Given the description of an element on the screen output the (x, y) to click on. 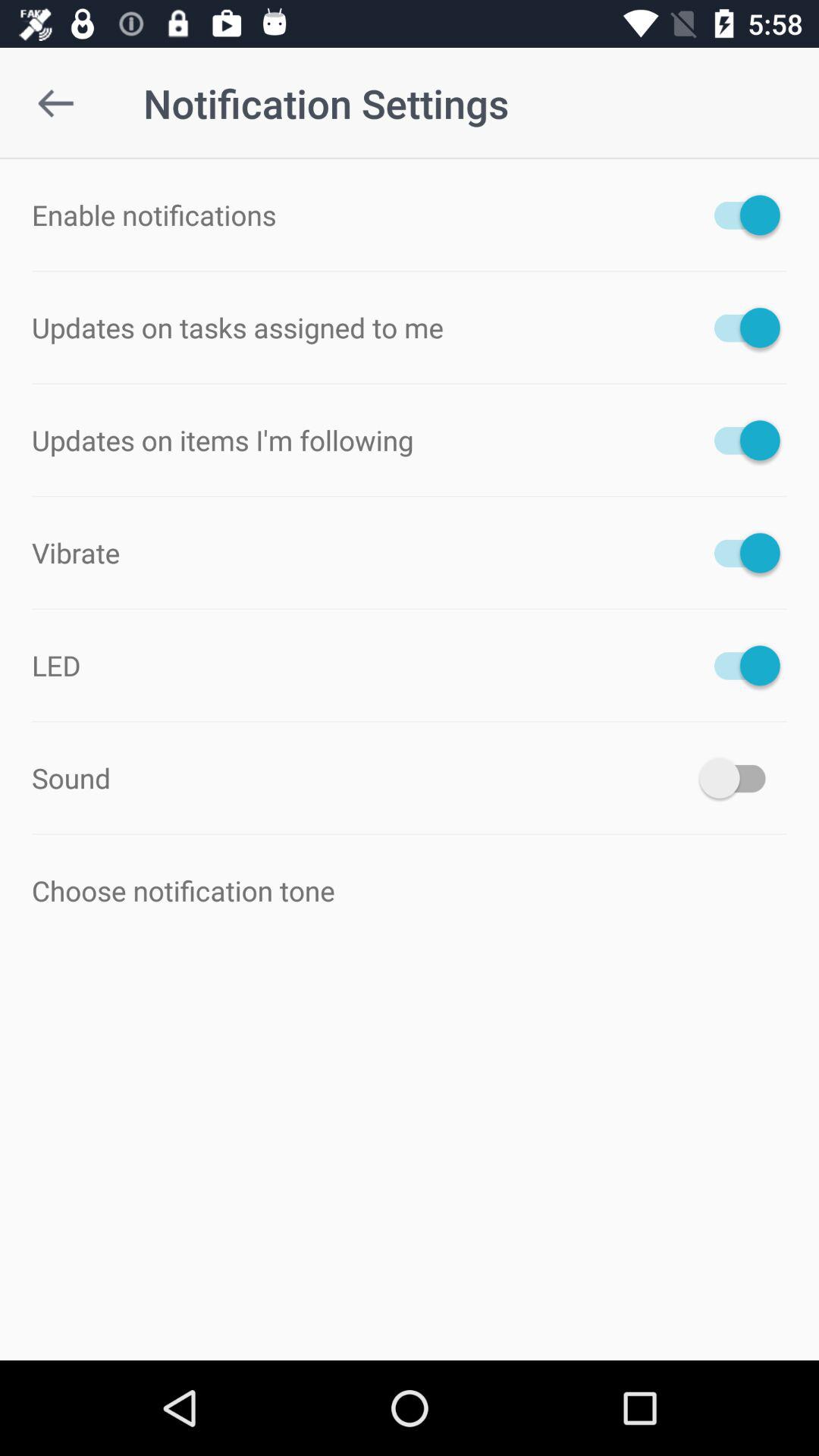
click the icon next to updates on tasks icon (739, 327)
